Given the description of an element on the screen output the (x, y) to click on. 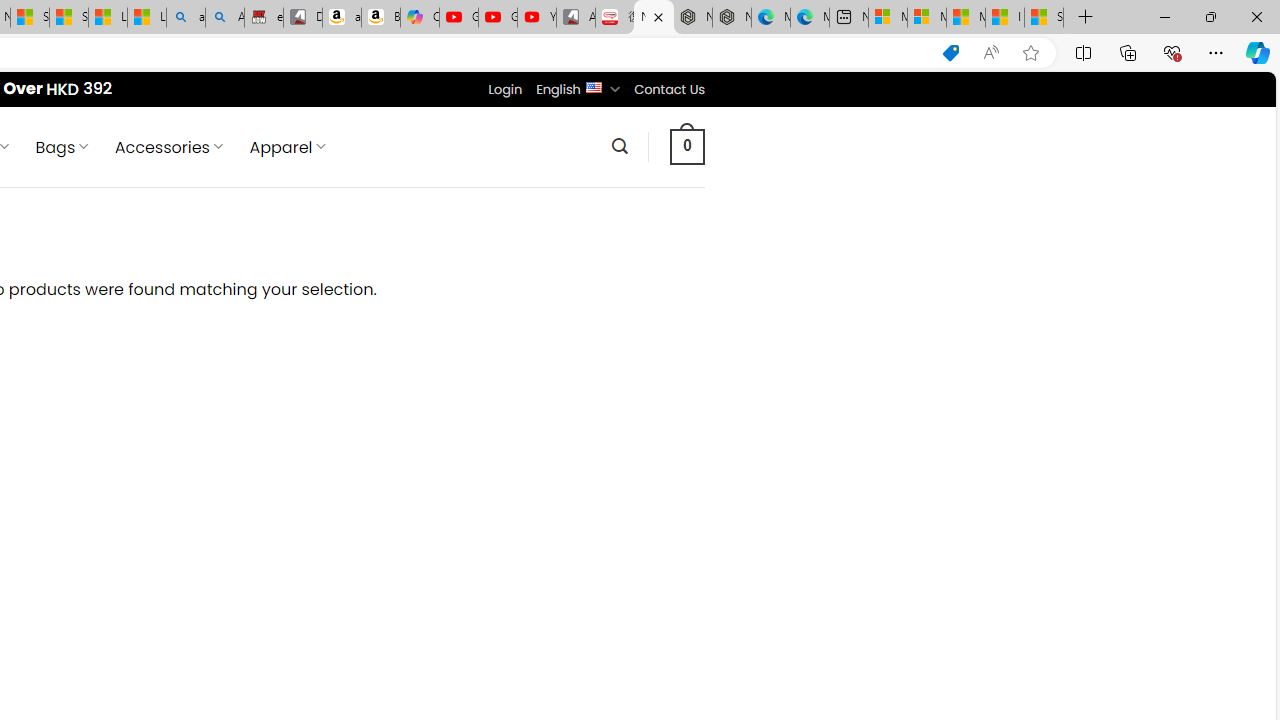
Contact Us (669, 89)
Gloom - YouTube (497, 17)
This site has coupons! Shopping in Microsoft Edge (950, 53)
Nordace - Luggage (653, 17)
  0   (687, 146)
All Cubot phones (575, 17)
